Given the description of an element on the screen output the (x, y) to click on. 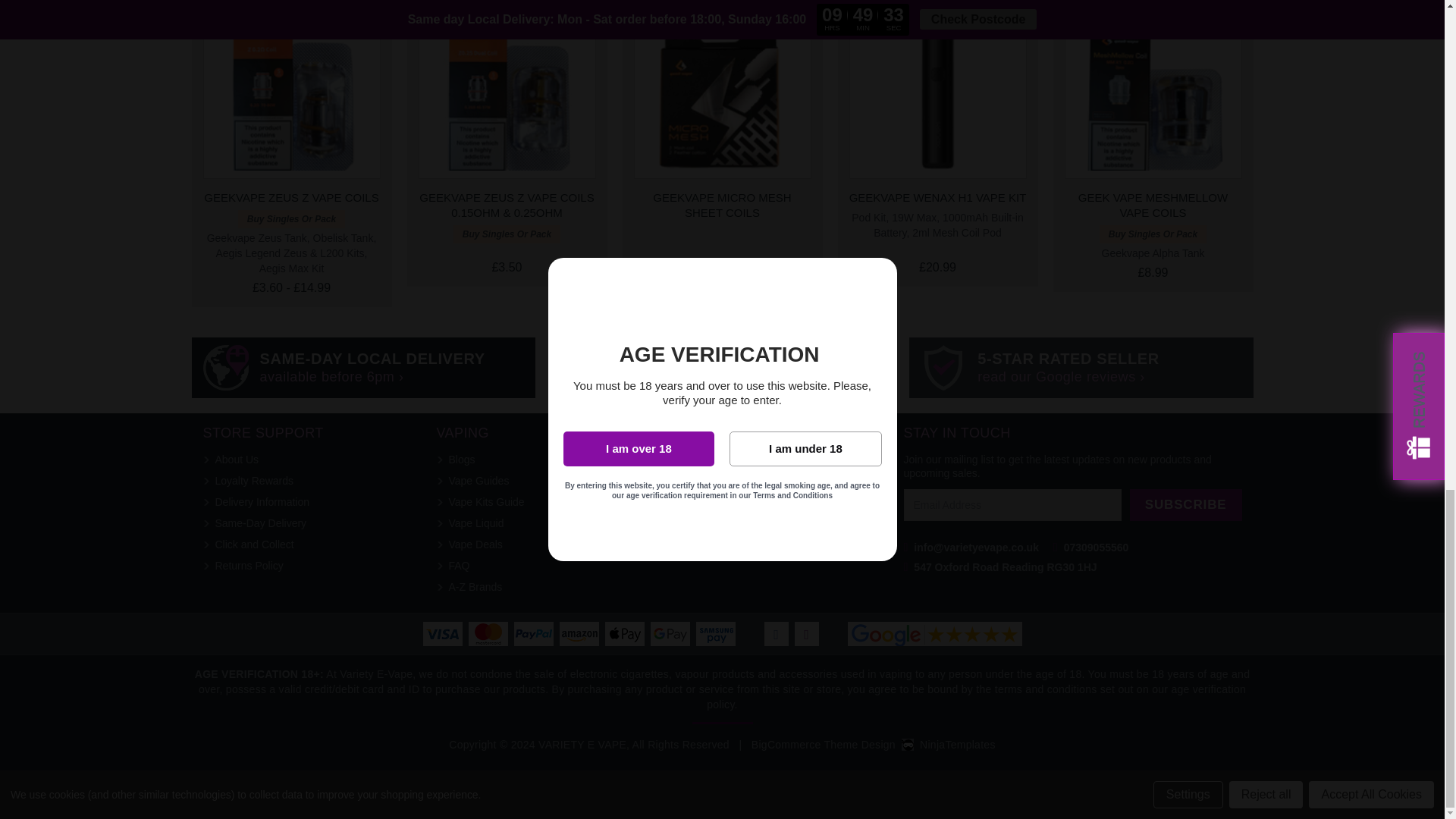
Geekvape Wenax H1 Pod Vape Kit (937, 89)
Geekvape Zeus Z Vape Coils 0.25 ohm (506, 89)
Geekvape Zeus Z Vape Coils 0.25 ohm (291, 89)
Geekvape Micro Mesh Sheet Coils (722, 89)
Subscribe (1185, 504)
Geekvape Meshmellow Vape Coils (1152, 89)
